Given the description of an element on the screen output the (x, y) to click on. 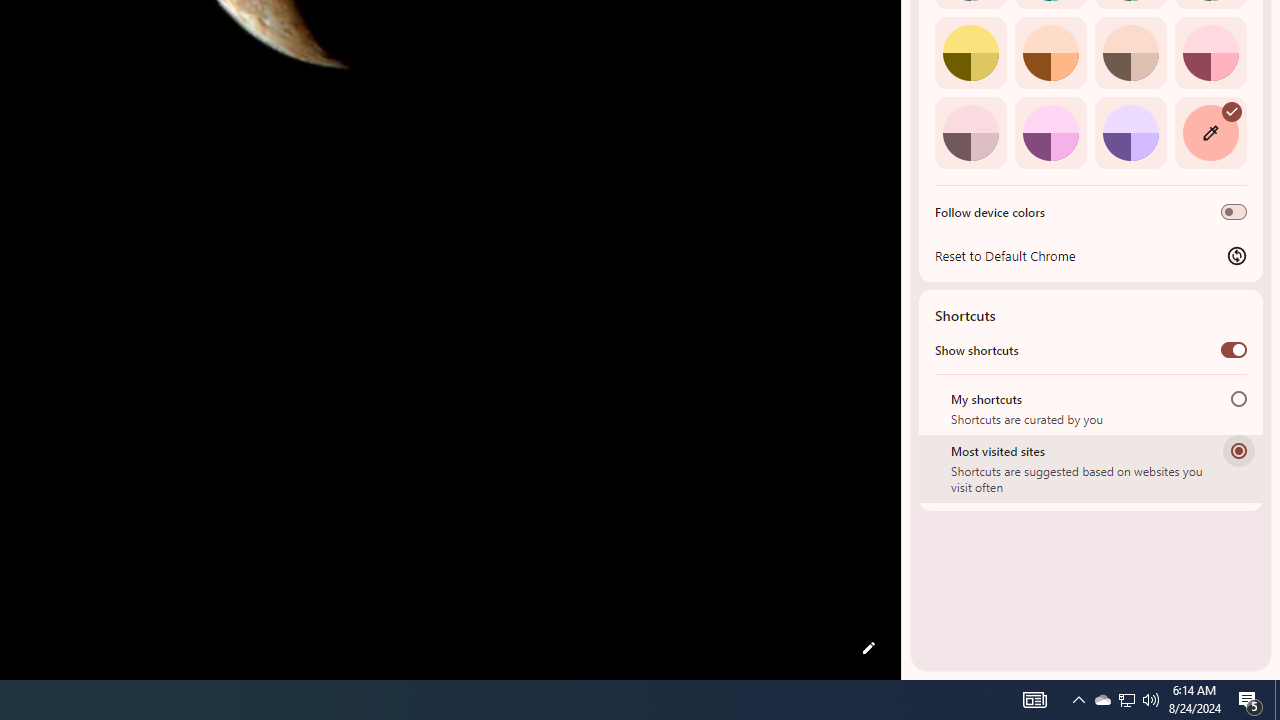
Orange (1050, 52)
AutomationID: svg (1231, 110)
My shortcuts (1238, 398)
Apricot (1130, 52)
Reset to Default Chrome (1091, 255)
Rose (1210, 52)
Follow device colors (1233, 211)
Most visited sites (1238, 450)
Side Panel Resize Handle (905, 39)
Violet (1130, 132)
Show shortcuts (1233, 349)
Customize this page (868, 647)
Pink (970, 132)
Fuchsia (1050, 132)
